Given the description of an element on the screen output the (x, y) to click on. 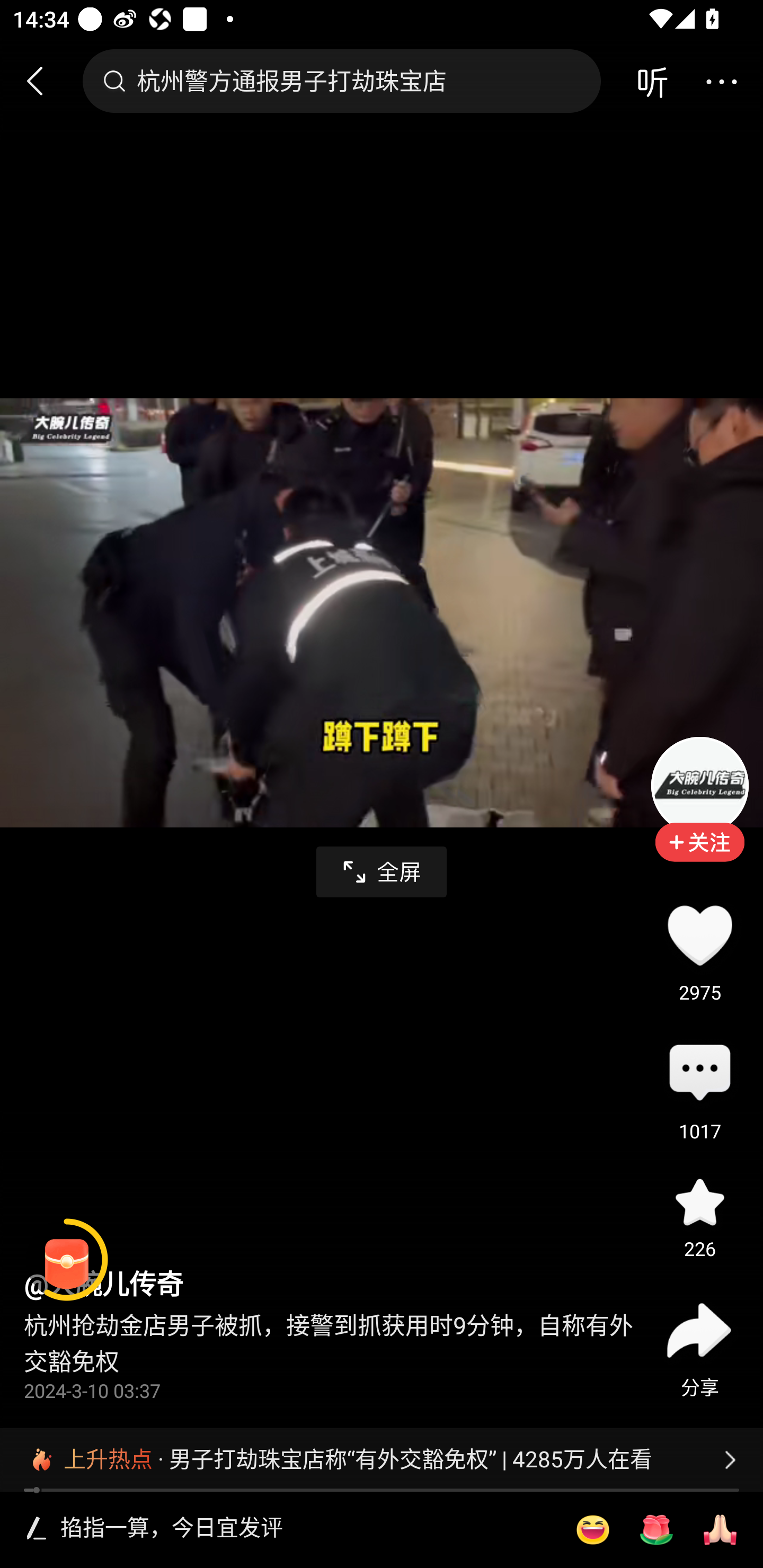
杭州警方通报男子打劫珠宝店 搜索框，杭州警方通报男子打劫珠宝店 (341, 80)
返回 (43, 80)
音频 (651, 80)
更多操作 (720, 80)
头像 (699, 785)
全屏播放 (381, 871)
点赞2975 2975 (699, 935)
评论1017 评论 1017 (699, 1074)
收藏 226 (699, 1201)
阅读赚金币 (66, 1259)
分享 (699, 1330)
上升热点  · 男子打劫珠宝店称“有外交豁免权”  | 4285万人在看 (381, 1459)
掐指一算，今日宜发评 (305, 1529)
[大笑] (592, 1530)
[玫瑰] (656, 1530)
[祈祷] (719, 1530)
